Given the description of an element on the screen output the (x, y) to click on. 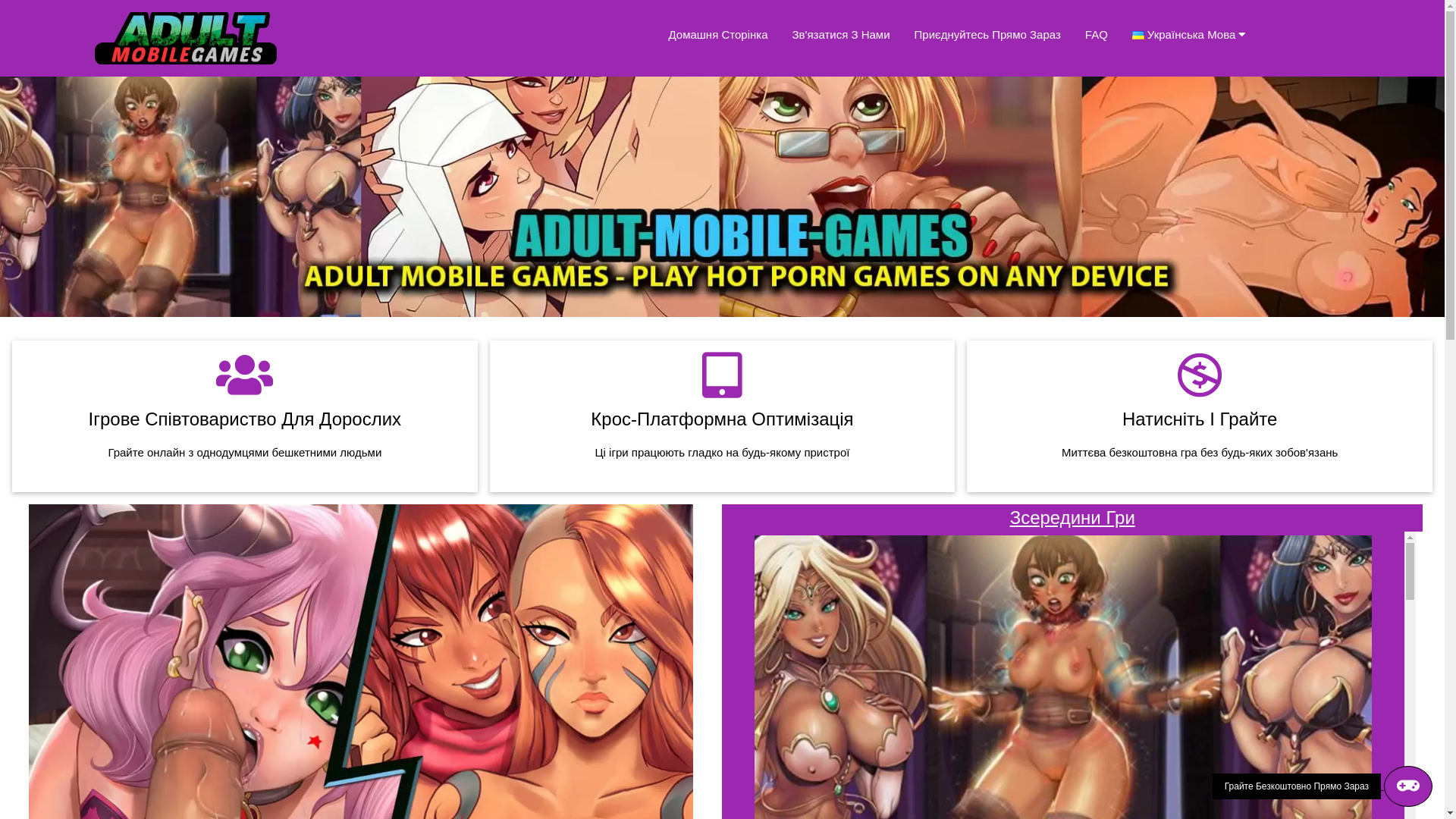
FAQ Element type: text (1096, 35)
